Given the description of an element on the screen output the (x, y) to click on. 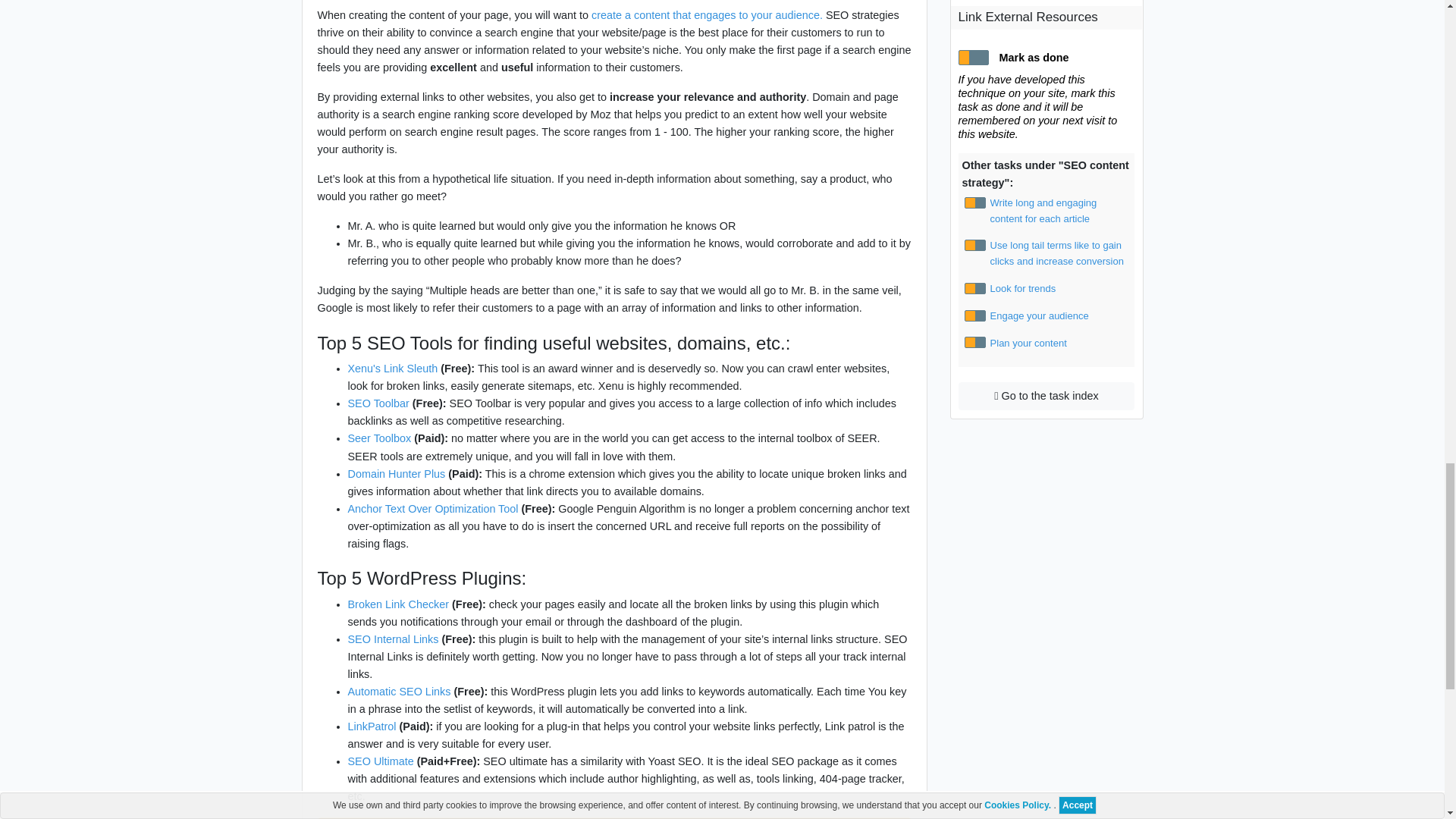
Automatic SEO Links (398, 691)
create a content that engages to your audience (705, 15)
SEO Toolbar (378, 403)
Seer Toolbox (378, 438)
Xenu's Link Sleuth (392, 368)
Anchor Text Over Optimization Tool (432, 508)
Broken Link Checker (397, 604)
SEO Internal Links (392, 639)
Domain Hunter Plus (396, 473)
LinkPatrol (371, 726)
